Given the description of an element on the screen output the (x, y) to click on. 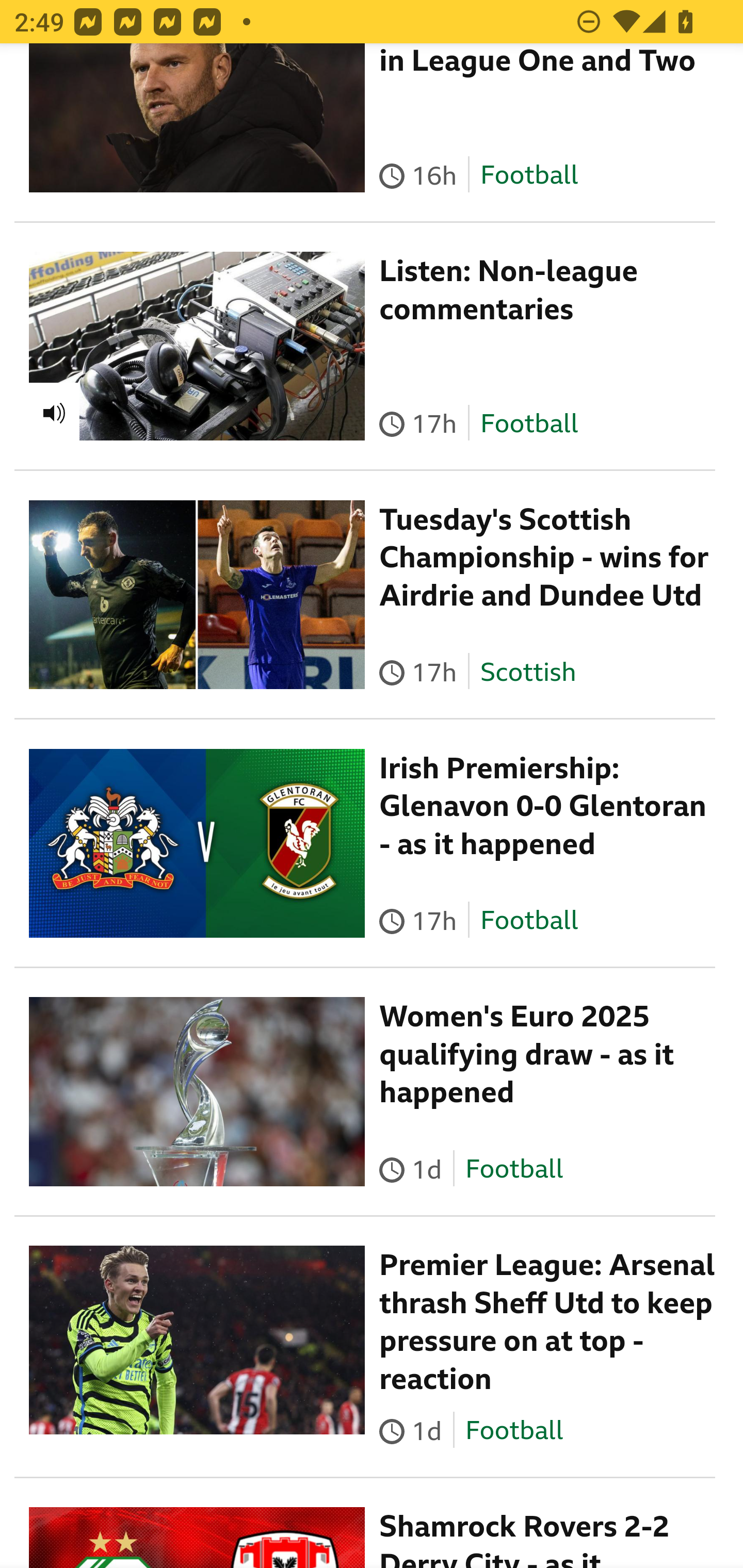
Relive Tuesday's games in League One and Two (539, 63)
Football (528, 175)
Listen: Non-league commentaries (508, 291)
Football (528, 424)
Scottish (528, 672)
Football (528, 922)
Women's Euro 2025 qualifying draw - as it happened (526, 1055)
Football (513, 1171)
Football (513, 1432)
